Given the description of an element on the screen output the (x, y) to click on. 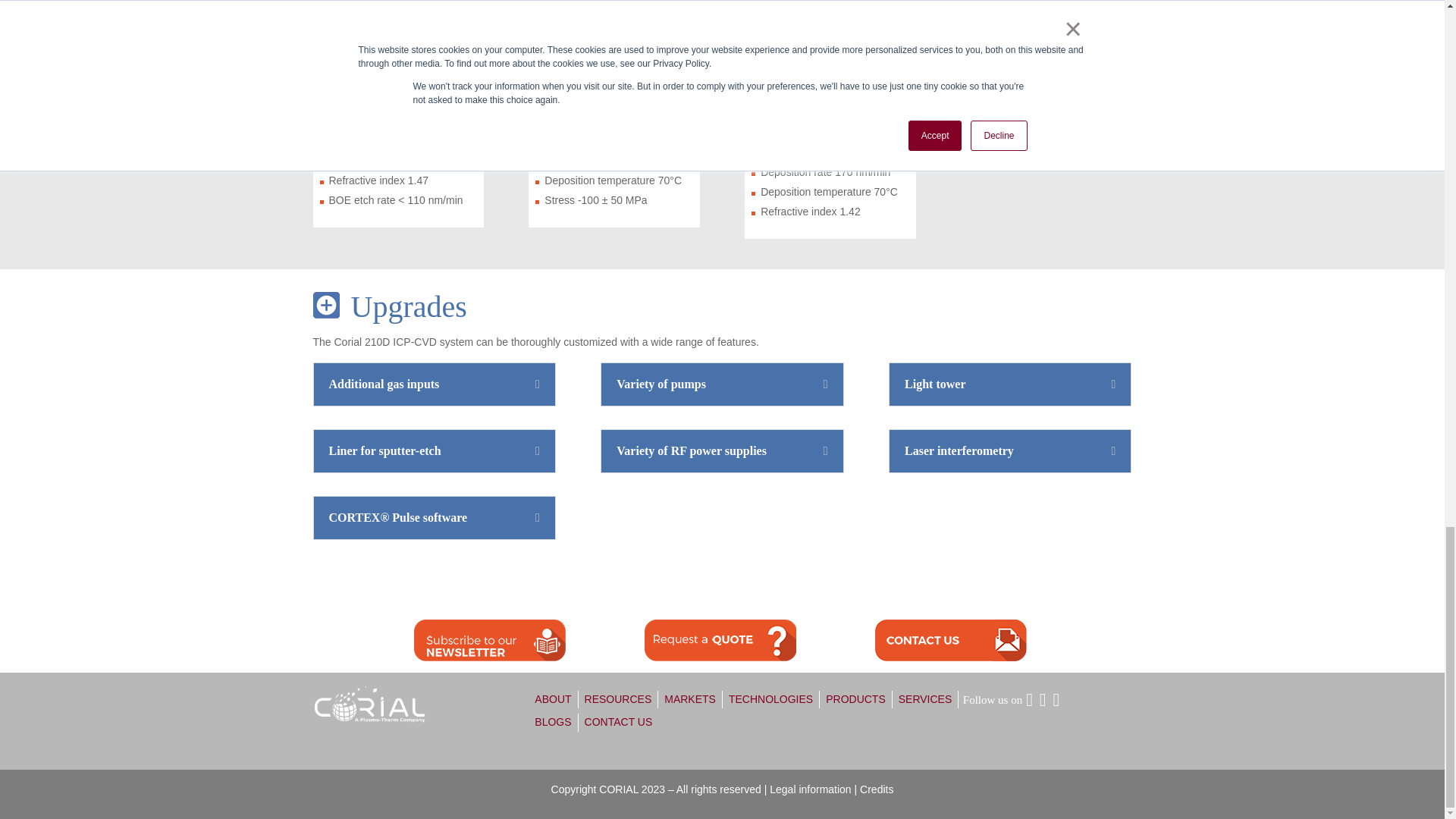
quote (720, 639)
contact (950, 639)
